Given the description of an element on the screen output the (x, y) to click on. 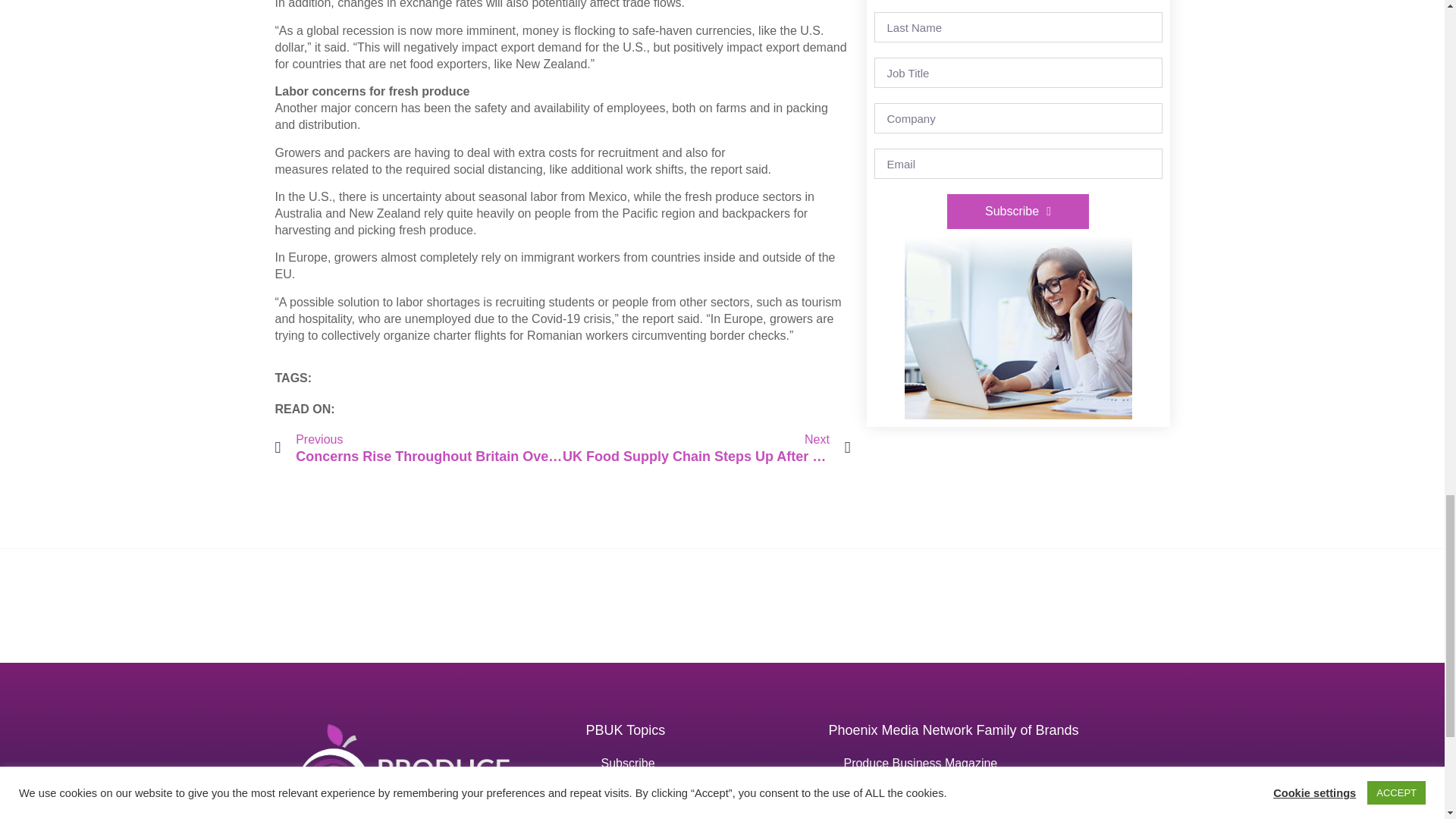
Subscribe (1018, 211)
